Given the description of an element on the screen output the (x, y) to click on. 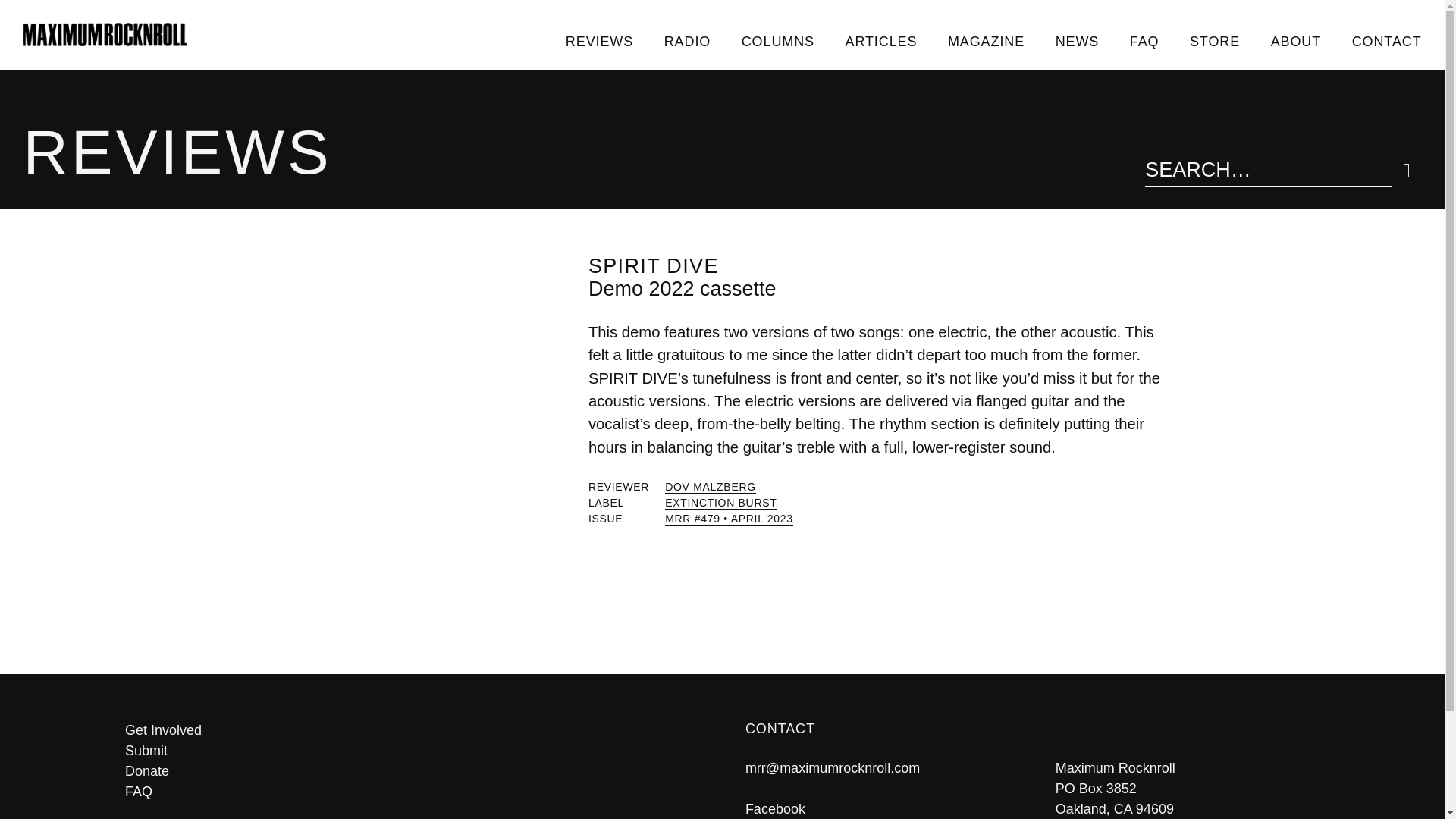
EXTINCTION BURST (720, 502)
Submit (411, 751)
Facebook (775, 808)
MAGAZINE (987, 41)
ARTICLES (880, 41)
FAQ (1143, 41)
Donate (411, 771)
REVIEWS (599, 41)
FAQ (411, 792)
CONTACT (1385, 41)
RADIO (686, 41)
ABOUT (1295, 41)
Get Involved (411, 730)
COLUMNS (777, 41)
SPIRIT DIVE (653, 265)
